Given the description of an element on the screen output the (x, y) to click on. 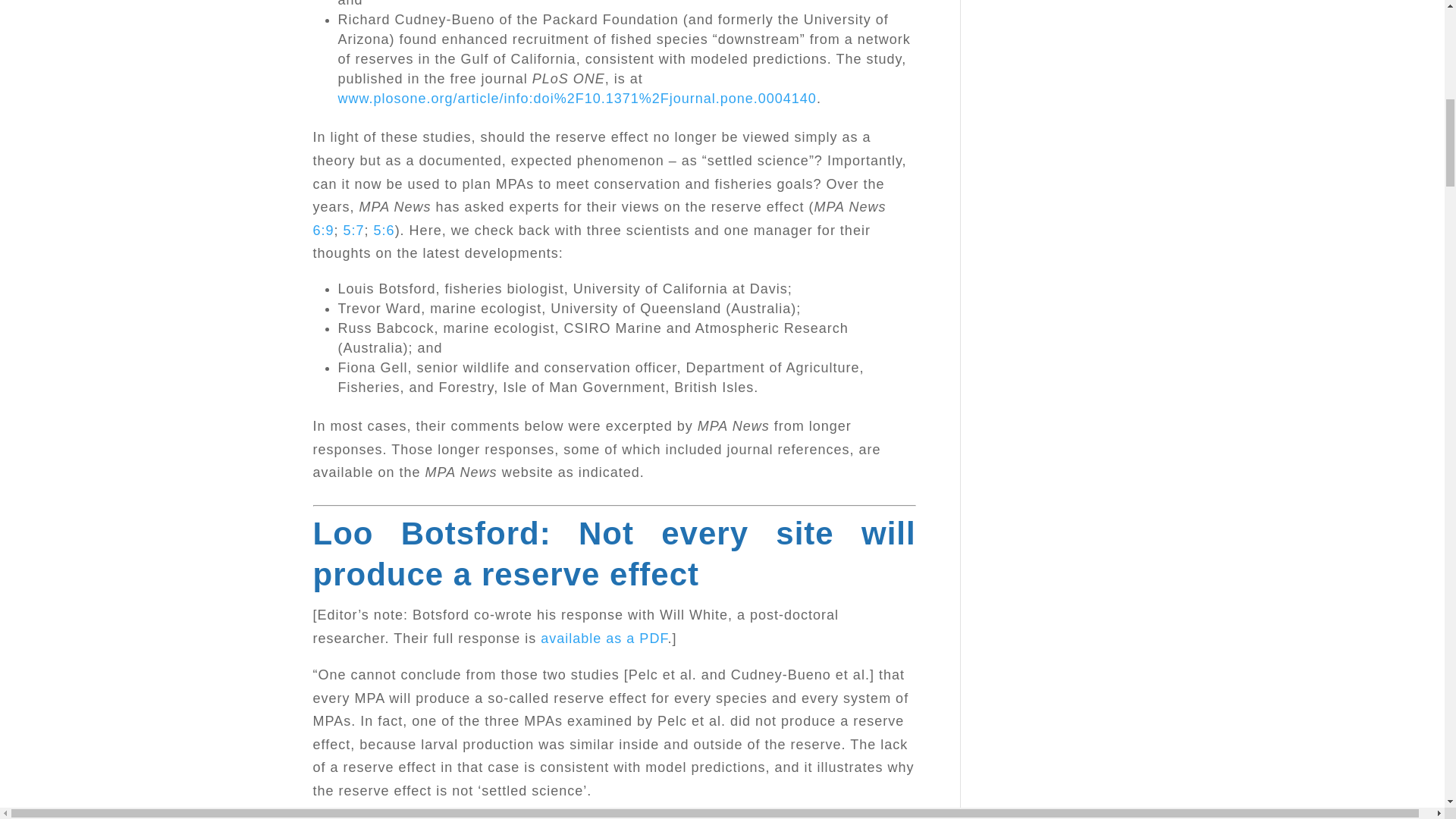
5:7 (354, 230)
6:9 (323, 230)
5:6 (384, 230)
available as a PDF (603, 638)
